Given the description of an element on the screen output the (x, y) to click on. 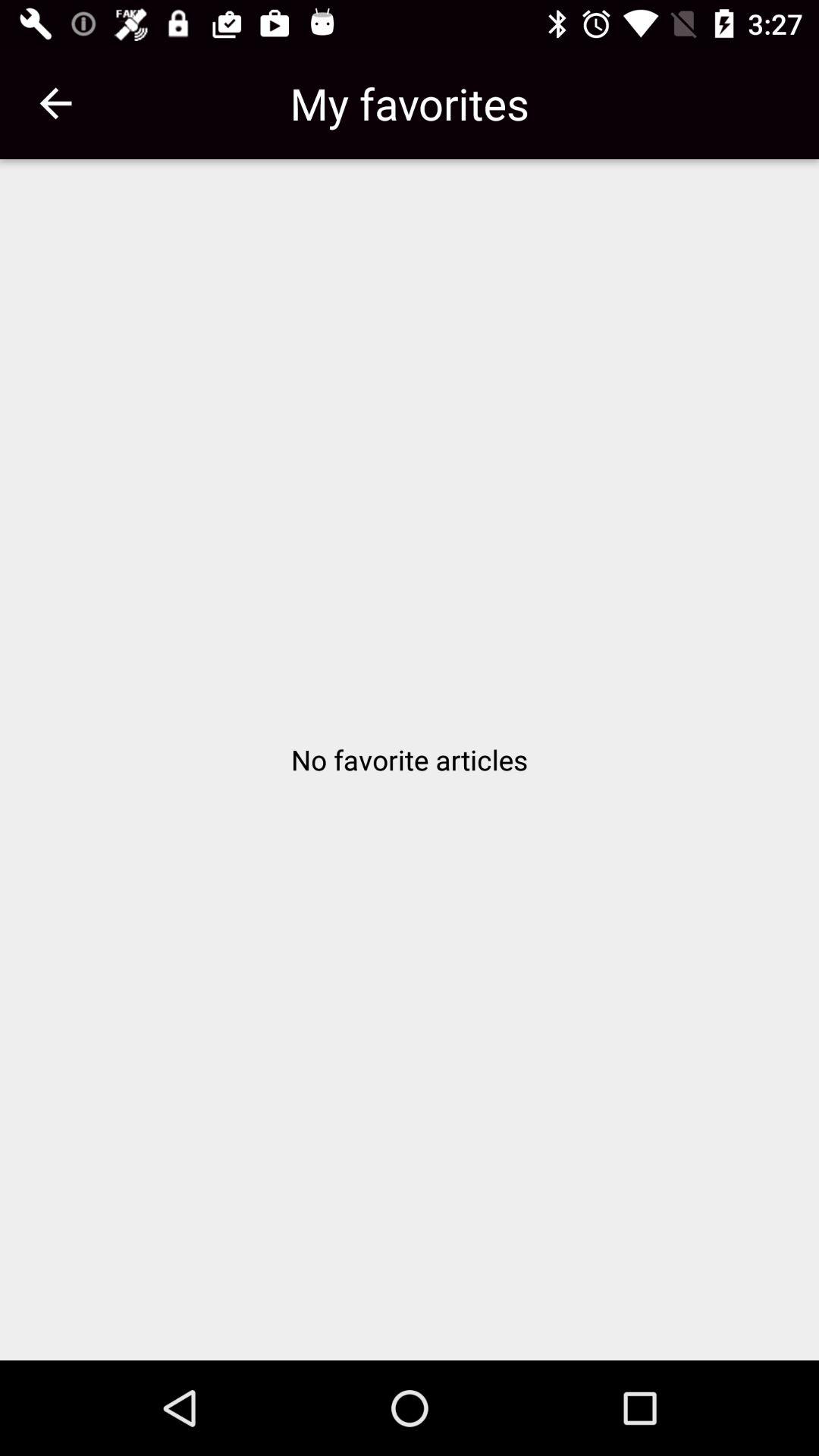
turn on the item at the top left corner (55, 103)
